Given the description of an element on the screen output the (x, y) to click on. 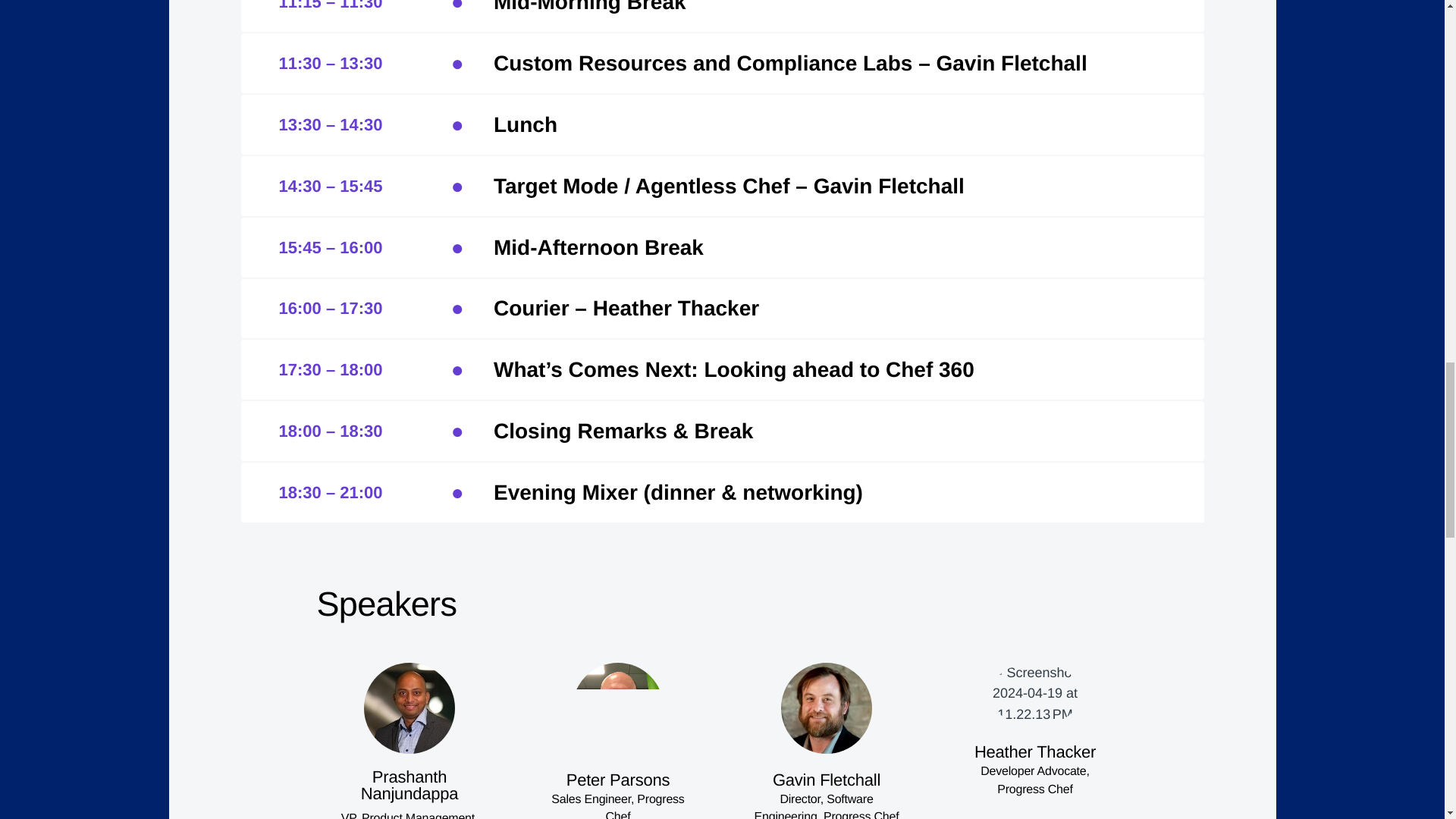
Peter Parsons, Sales Engineer (617, 707)
1654786316388 (826, 707)
